Given the description of an element on the screen output the (x, y) to click on. 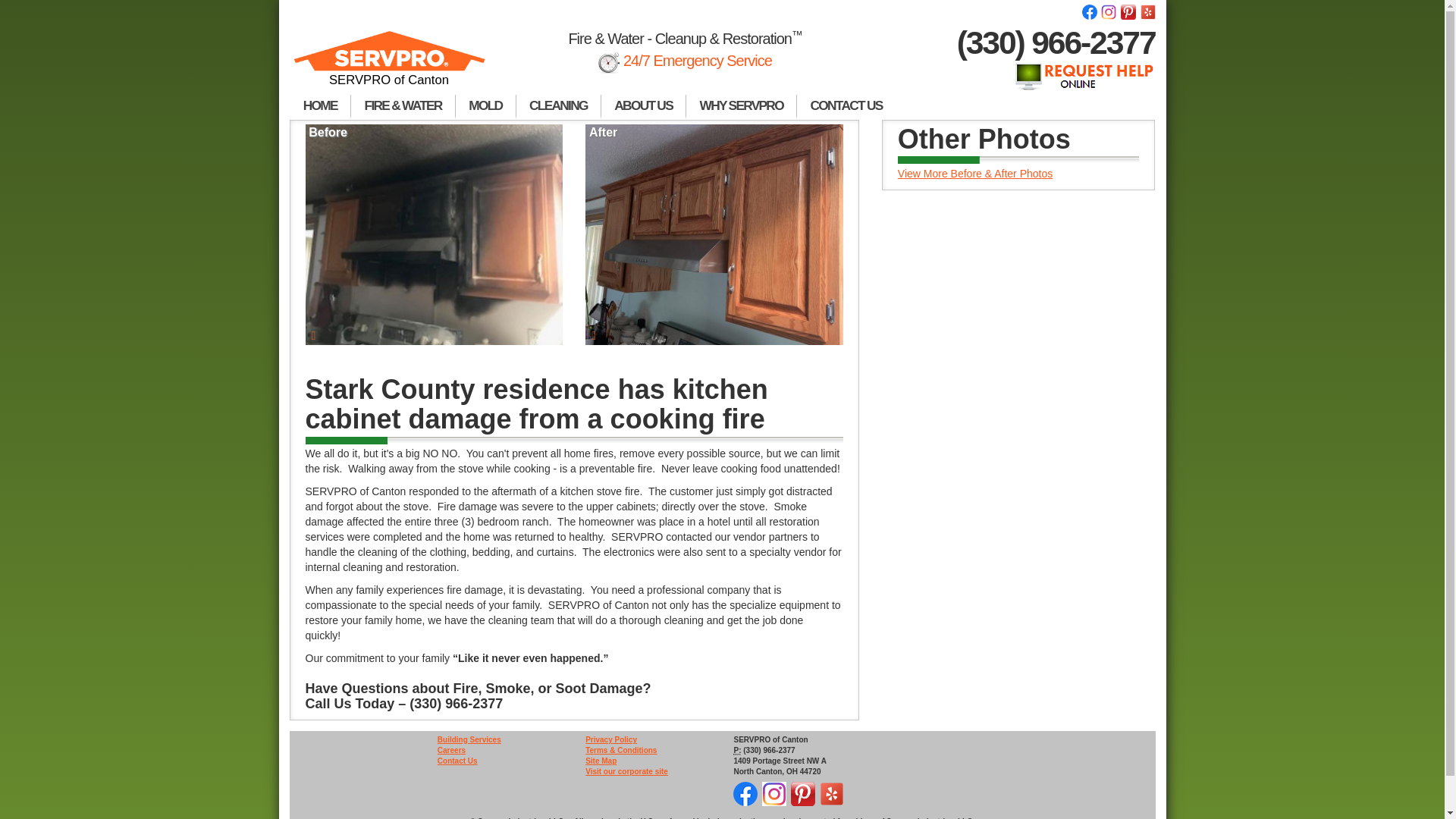
CLEANING (558, 106)
MOLD (485, 106)
HOME (319, 106)
ABOUT US (643, 106)
SERVPRO of Canton (389, 64)
Phone (737, 750)
